Given the description of an element on the screen output the (x, y) to click on. 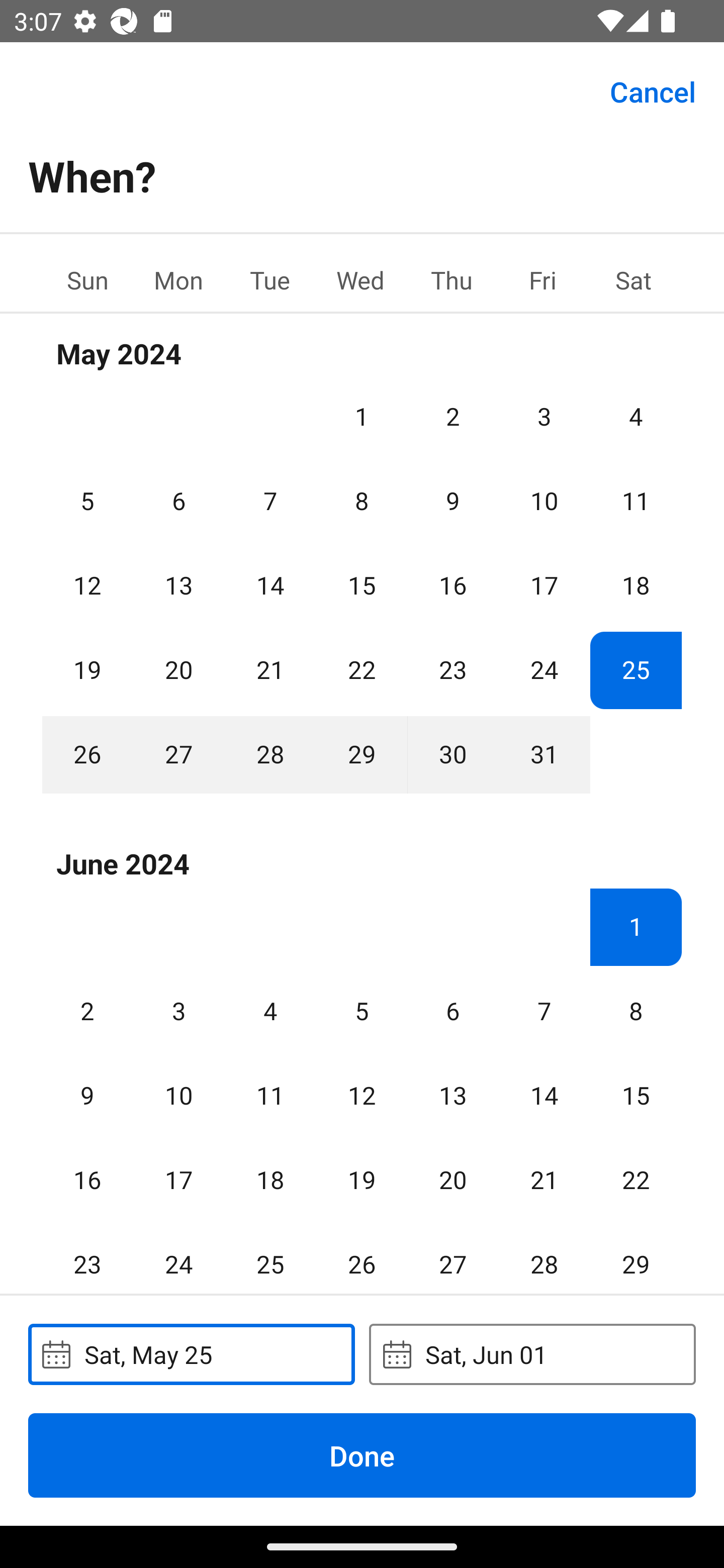
Cancel (652, 90)
Sat, May 25 (191, 1353)
Sat, Jun 01 (532, 1353)
Done (361, 1454)
